Given the description of an element on the screen output the (x, y) to click on. 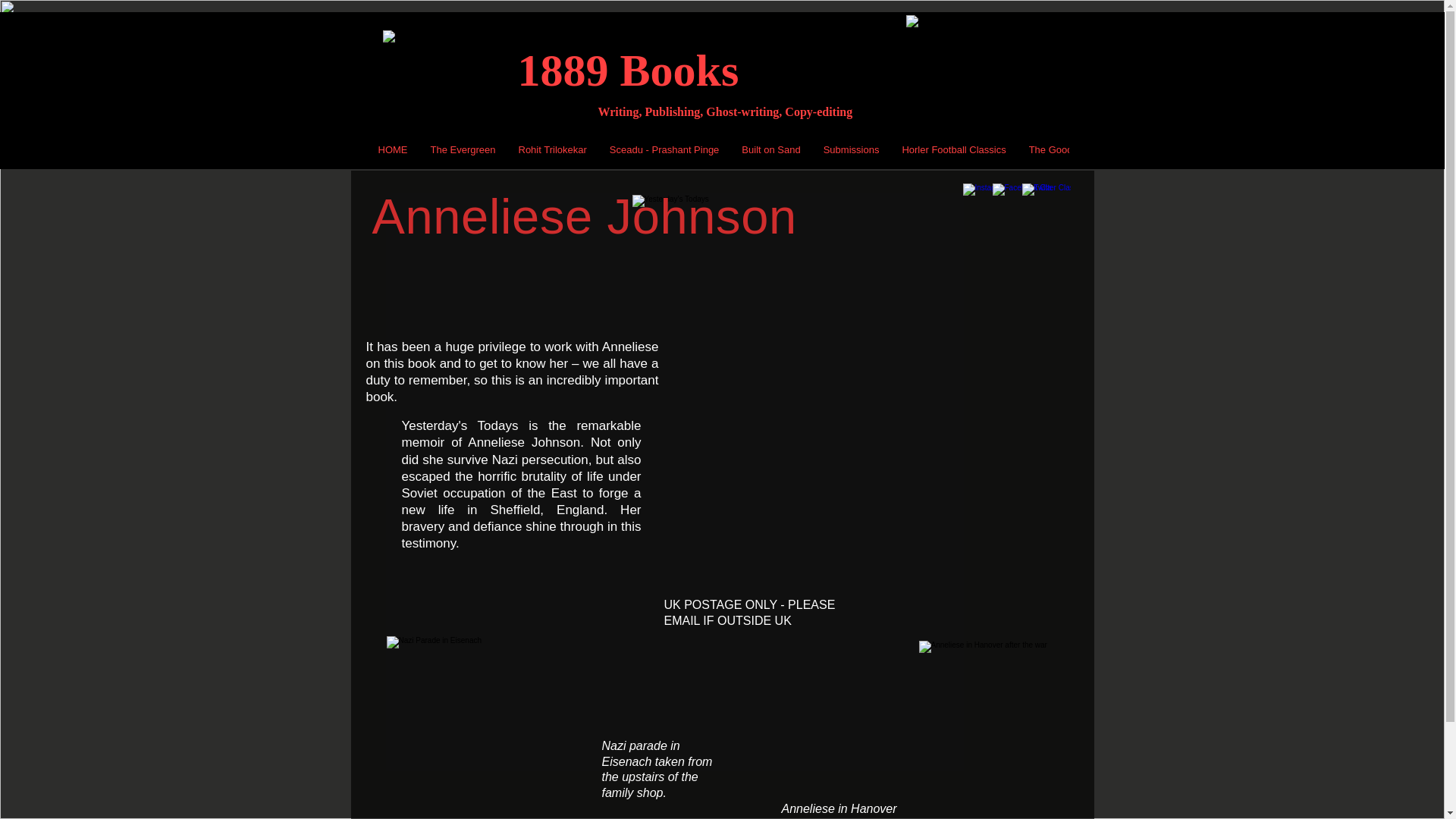
Rohit Trilokekar (551, 151)
Sceadu - Prashant Pinge (664, 151)
The Evergreen (462, 151)
Books to make you think (435, 79)
Submissions (851, 151)
HOME (392, 151)
Horler Football Classics (952, 151)
The Good Lion (1061, 151)
Built on Sand (770, 151)
